Given the description of an element on the screen output the (x, y) to click on. 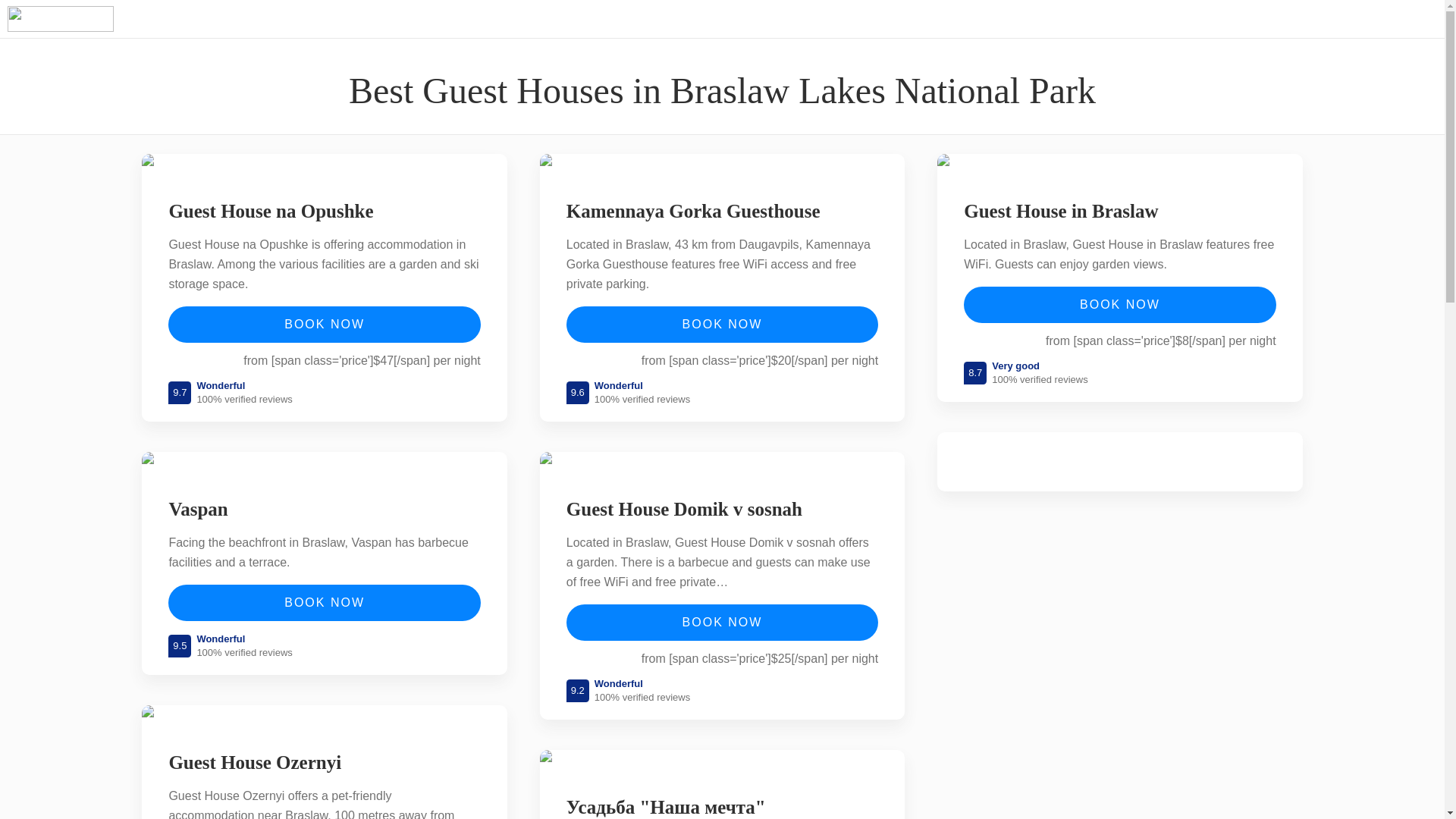
Guest House na Opushke (269, 210)
BOOK NOW (721, 324)
Guest House in Braslaw (1061, 210)
BOOK NOW (721, 622)
BOOK NOW (1119, 304)
Guest House Ozernyi (254, 762)
BOOK NOW (324, 602)
Kamennaya Gorka Guesthouse (693, 210)
Guest House Domik v sosnah (684, 508)
BOOK NOW (324, 324)
